Given the description of an element on the screen output the (x, y) to click on. 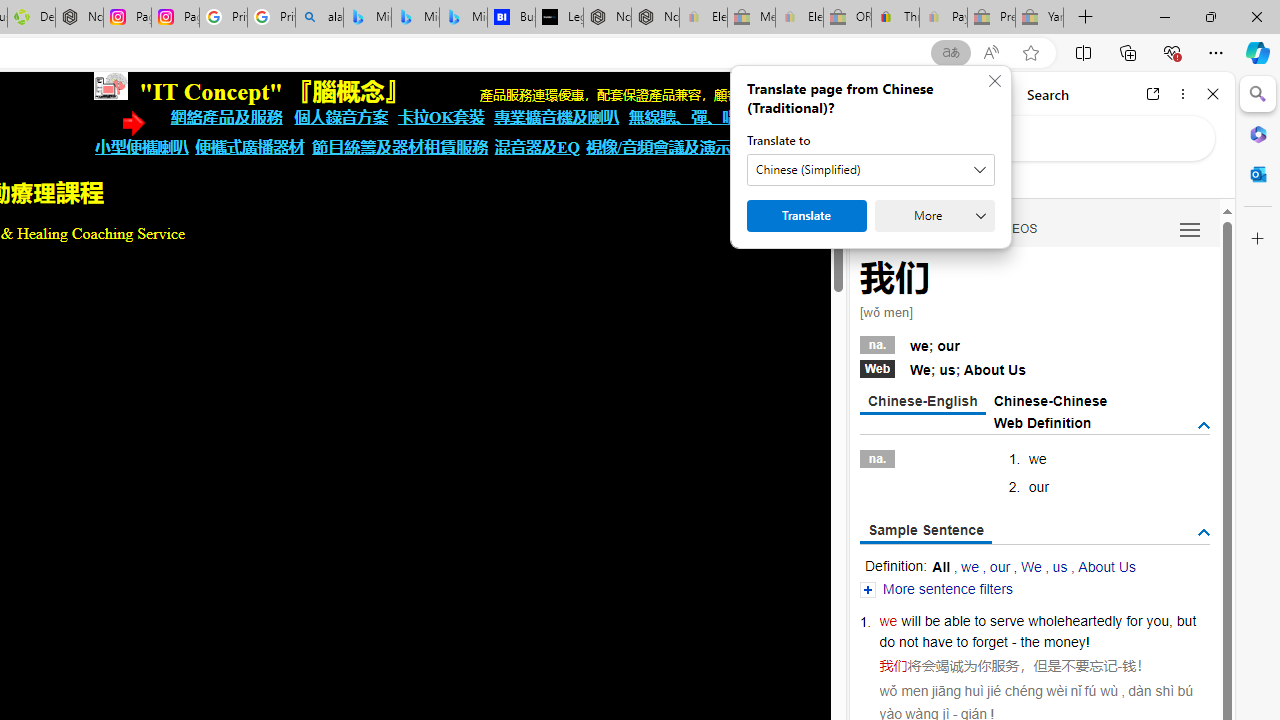
serve (1007, 620)
Chinese-English (922, 402)
AutomationID: tgdef (1203, 425)
IMAGES (944, 228)
Translate to (870, 169)
Minimize (1164, 16)
About Us (1106, 566)
Read aloud this page (Ctrl+Shift+U) (991, 53)
Preferences (1189, 228)
